Given the description of an element on the screen output the (x, y) to click on. 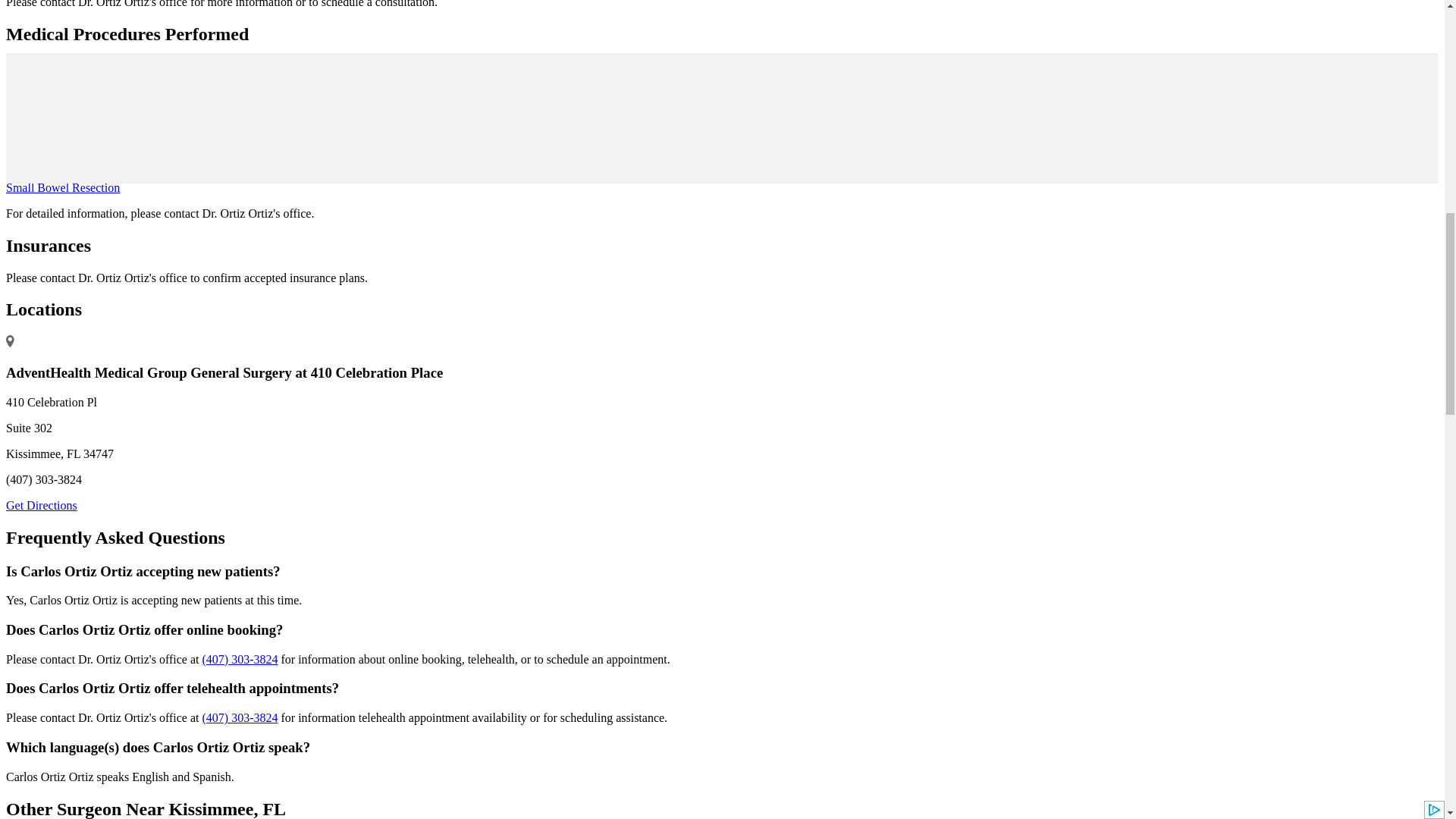
Refractive Lens Exchange (588, 105)
Neurosurgery Consultation (226, 91)
Neurosurgery Follow Up (991, 105)
Brain Tumor Evaluation (191, 105)
Pre-Surgery Follow Up (1115, 105)
Pre-Surgery Consultation (360, 91)
Skull Base Surgery (778, 105)
Laparoscopic Surgery Follow Up (108, 119)
Surgery Follow Up (877, 105)
Surgery Consultation (479, 91)
Brain Aneurysm Treatment (322, 105)
Brain Surgery (692, 105)
Pre-Surgery Consultation (774, 91)
Laparoscopic Surgery Consultation (928, 91)
Pediatric Pre-Surgery Consultation (622, 91)
